Given the description of an element on the screen output the (x, y) to click on. 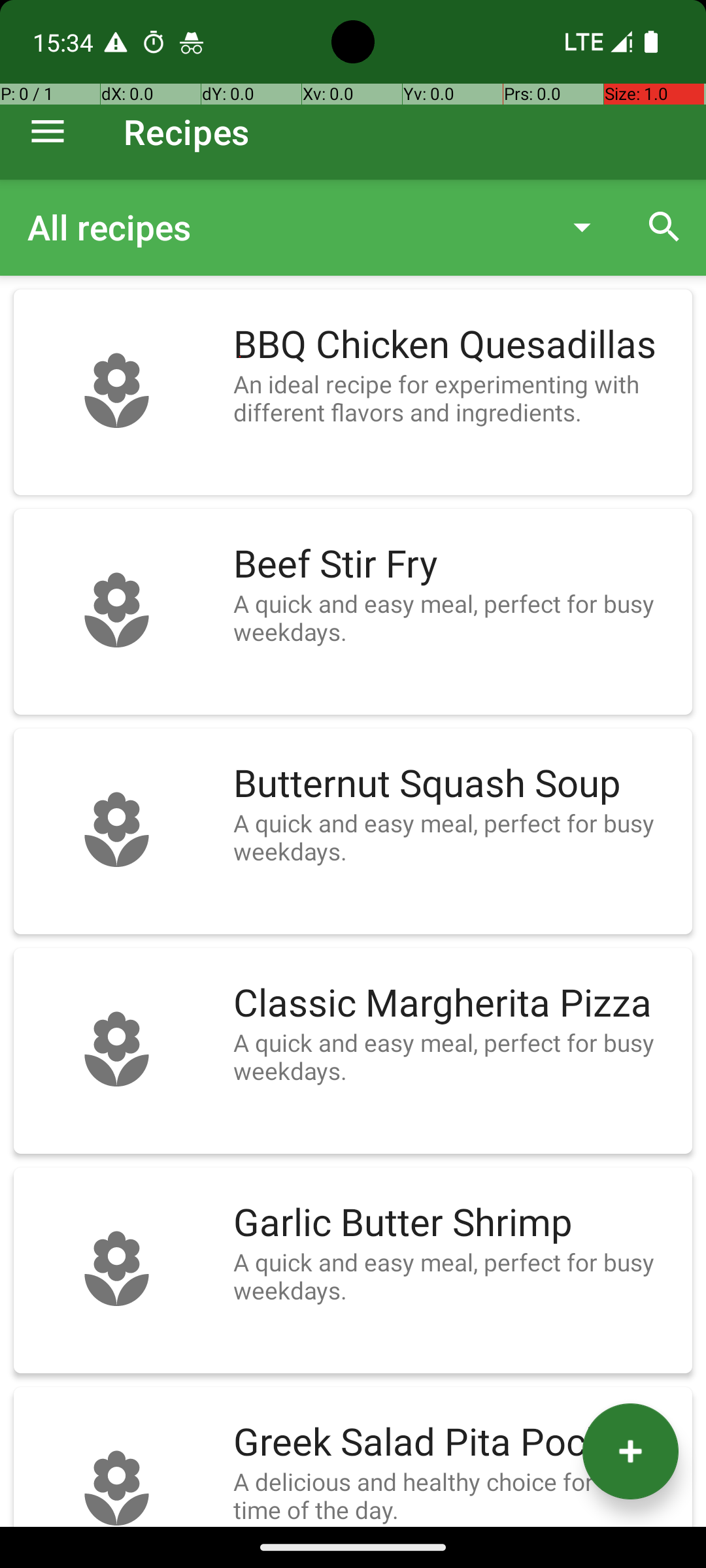
Garlic Butter Shrimp Element type: android.widget.TextView (455, 1222)
Greek Salad Pita Pockets Element type: android.widget.TextView (455, 1442)
